Given the description of an element on the screen output the (x, y) to click on. 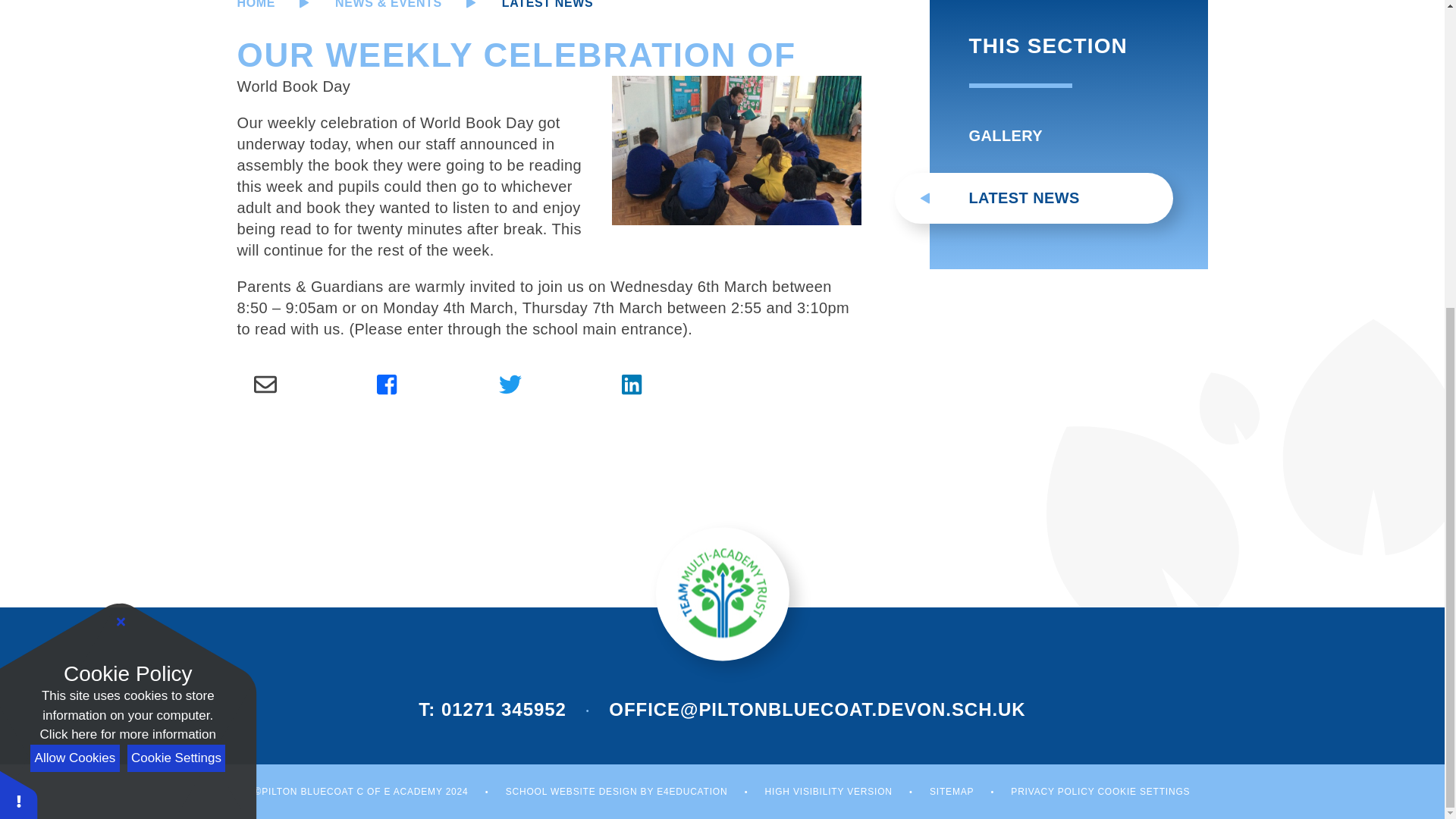
Cookie Settings (176, 271)
See cookie policy (127, 247)
Allow Cookies (74, 271)
Cookie Settings (1143, 791)
